Given the description of an element on the screen output the (x, y) to click on. 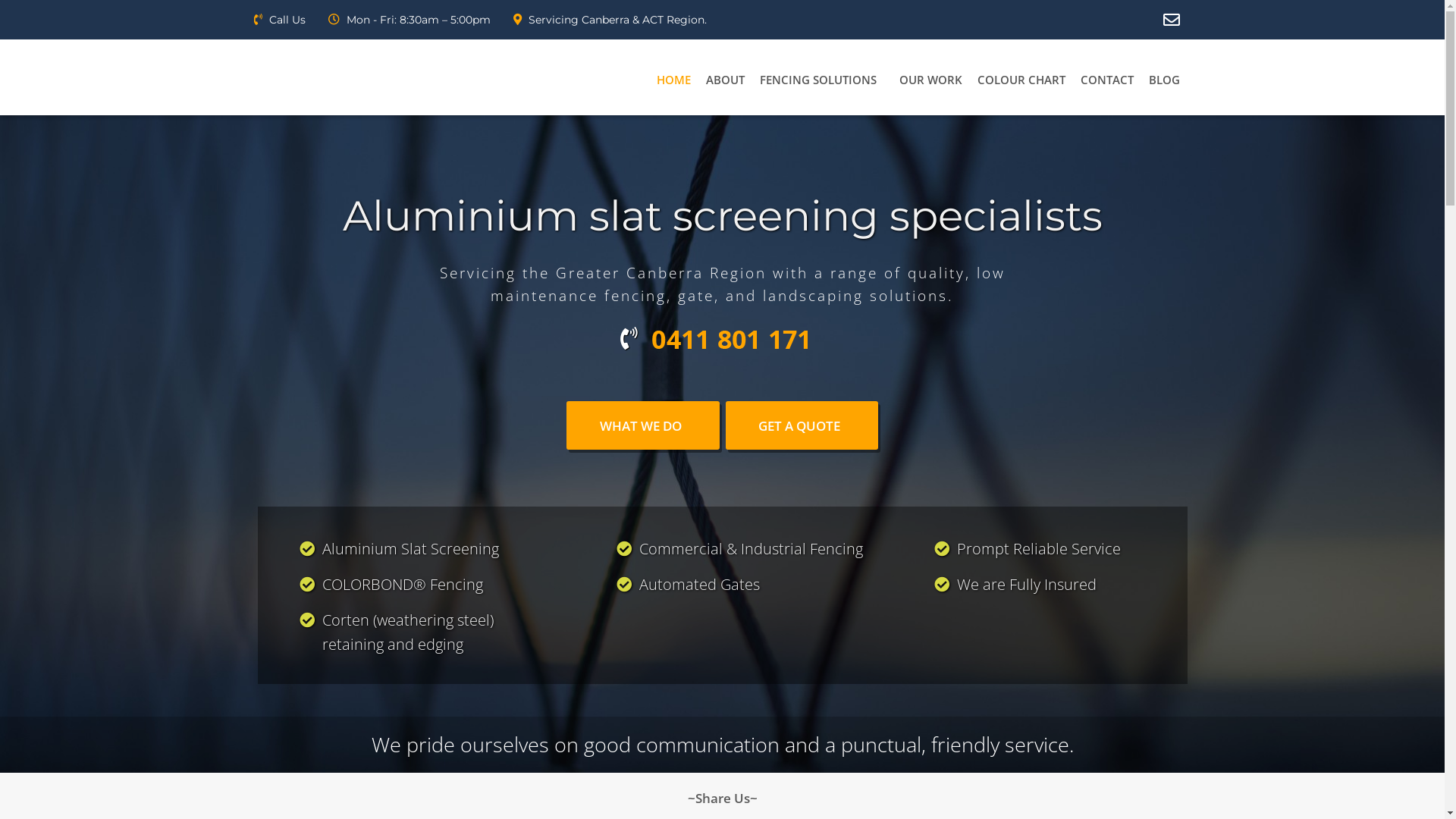
OUR WORK Element type: text (930, 82)
FENCING SOLUTIONS Element type: text (821, 82)
CONTACT Element type: text (1106, 82)
WHAT WE DO Element type: text (642, 425)
HOME Element type: text (673, 82)
ABOUT Element type: text (724, 82)
COLOUR CHART Element type: text (1020, 82)
BLOG Element type: text (1163, 82)
Call Us Element type: text (278, 19)
GET A QUOTE Element type: text (801, 425)
